Given the description of an element on the screen output the (x, y) to click on. 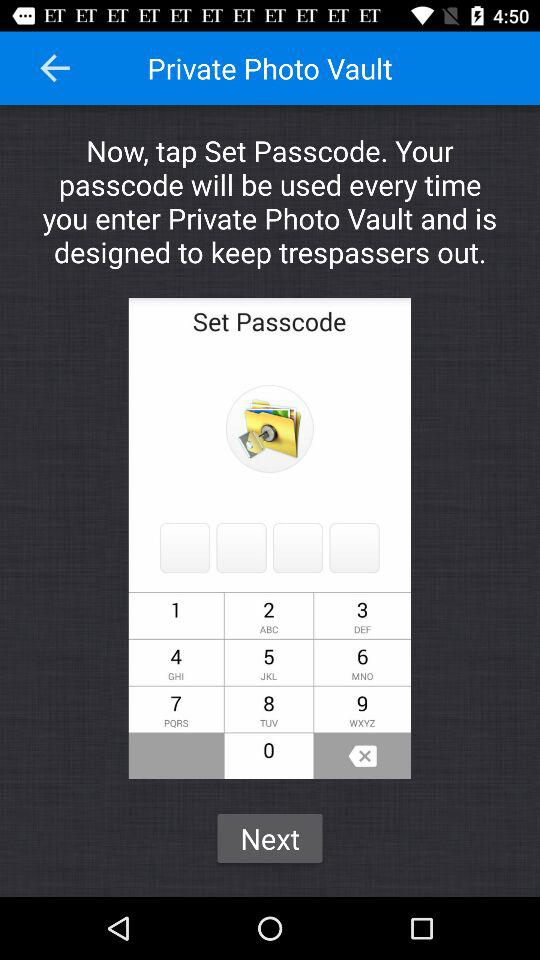
turn on the item at the top left corner (55, 68)
